Given the description of an element on the screen output the (x, y) to click on. 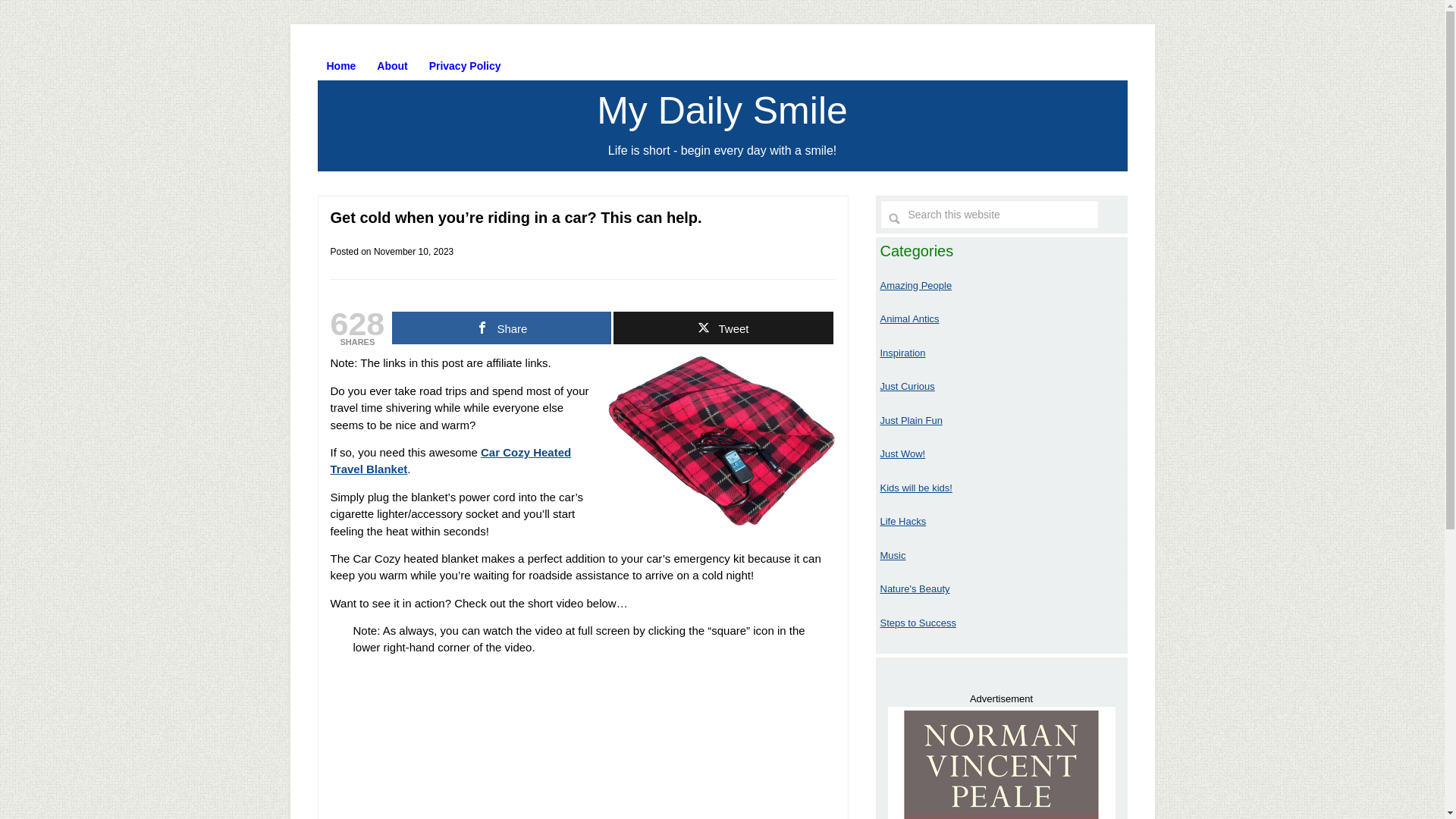
Amazing People (915, 285)
Steps to Success (917, 622)
Inspiration (901, 352)
Tweet (722, 327)
Music (892, 555)
Home (341, 65)
Just Curious (906, 386)
Just Plain Fun (910, 419)
Car Cozy Heated Travel Blanket (451, 460)
Just Wow! (901, 453)
Privacy Policy (465, 65)
Nature's Beauty (914, 588)
Animal Antics (909, 318)
